Given the description of an element on the screen output the (x, y) to click on. 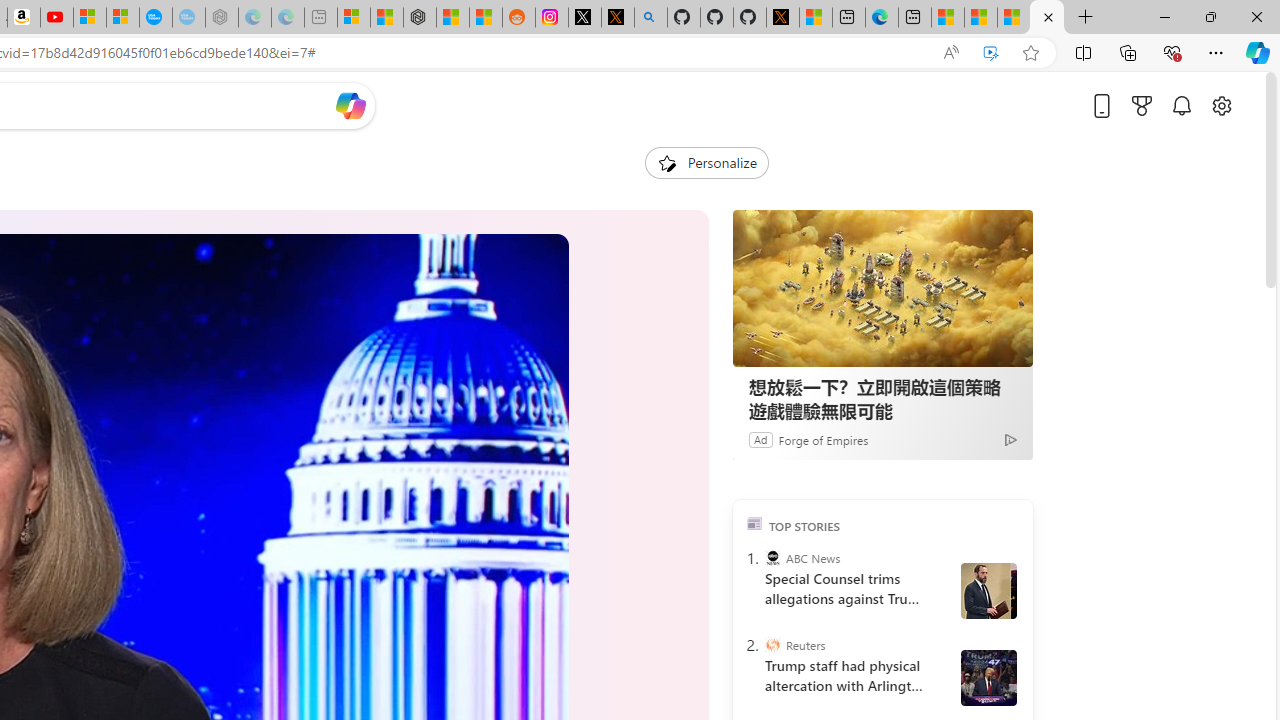
Personalize (706, 162)
github - Search (650, 17)
To get missing image descriptions, open the context menu. (666, 162)
ABC News (772, 557)
Microsoft account | Microsoft Account Privacy Settings (353, 17)
Forge of Empires (823, 439)
Ad (760, 439)
